Given the description of an element on the screen output the (x, y) to click on. 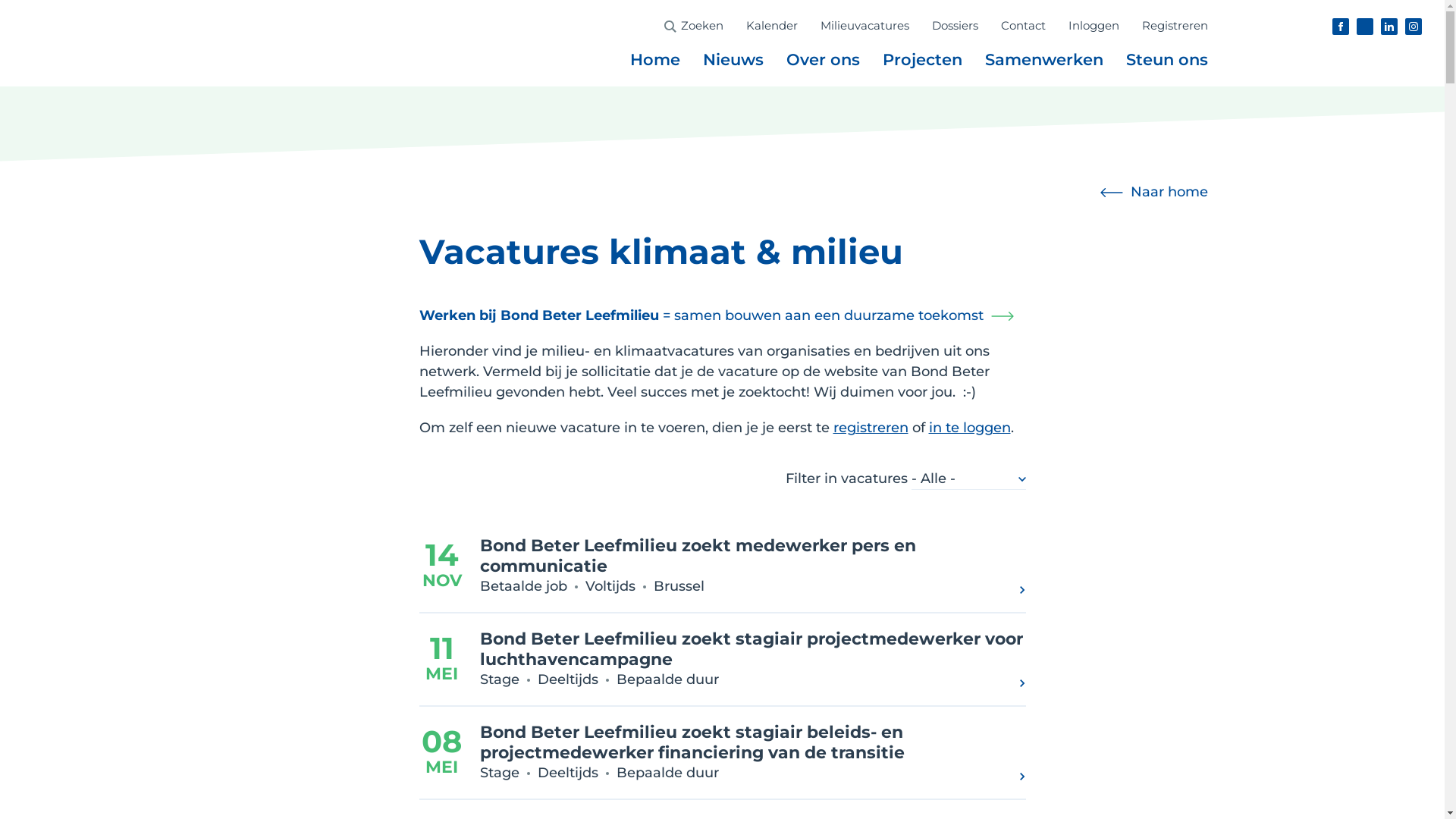
Milieuvacatures Element type: text (864, 25)
registreren Element type: text (869, 427)
Steun ons Element type: text (1166, 59)
Naar home Element type: text (1153, 191)
twitter Element type: text (1364, 26)
Kalender Element type: text (771, 25)
Inloggen Element type: text (1092, 25)
Overslaan en naar de inhoud gaan Element type: text (22, 0)
Over ons Element type: text (822, 59)
Zoeken Element type: text (701, 25)
facebook Element type: text (1340, 26)
Dossiers Element type: text (954, 25)
in te loggen Element type: text (969, 427)
Projecten Element type: text (922, 59)
Samenwerken Element type: text (1043, 59)
Nieuws Element type: text (732, 59)
Registreren Element type: text (1175, 25)
linkedin Element type: text (1388, 26)
instagram Element type: text (1413, 26)
Contact Element type: text (1023, 25)
Bond Beter Leefmilieu Element type: text (133, 83)
Home Element type: text (654, 59)
